Given the description of an element on the screen output the (x, y) to click on. 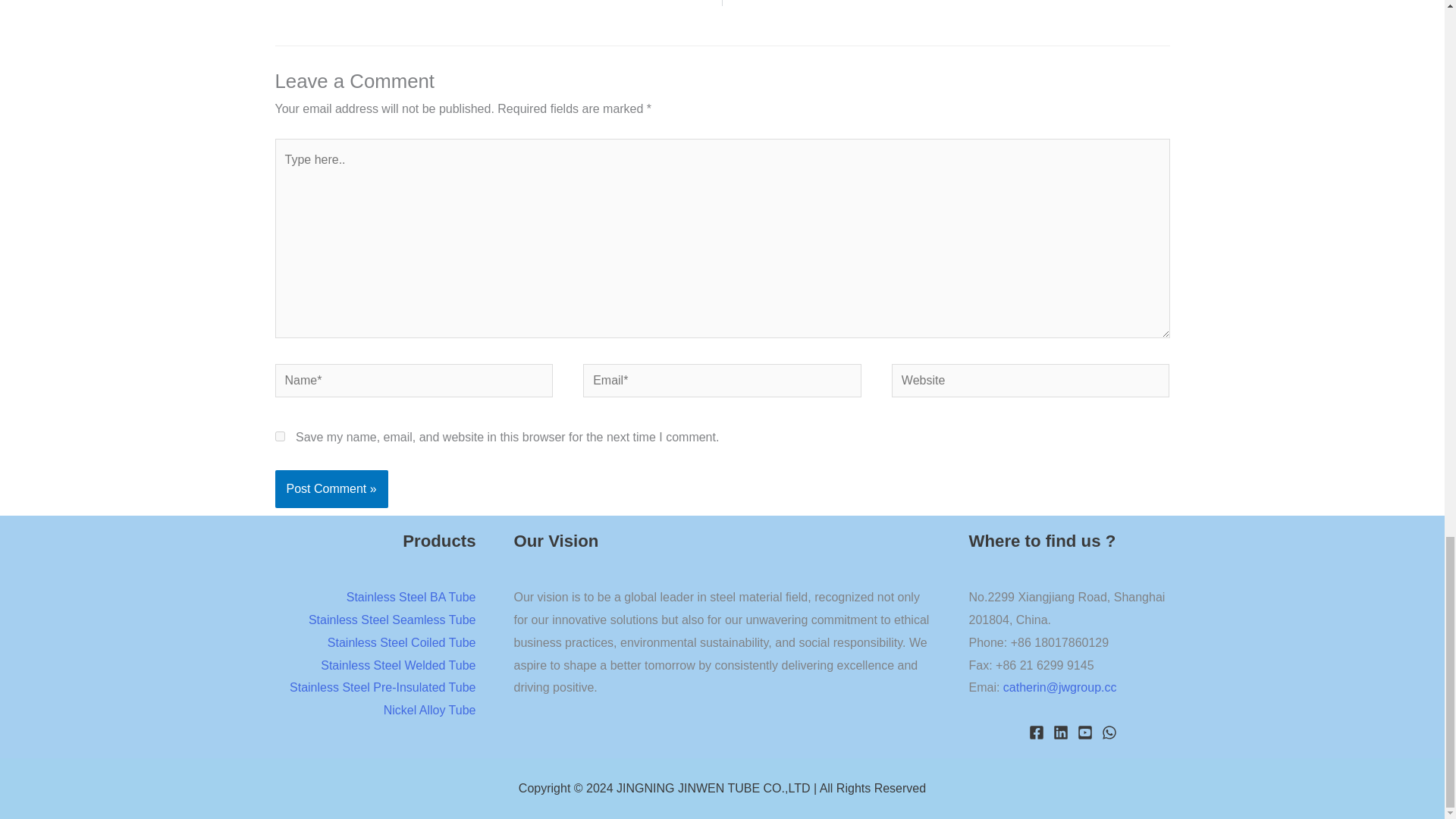
PREVIOUS (498, 2)
yes (279, 436)
NEXT (946, 2)
